Given the description of an element on the screen output the (x, y) to click on. 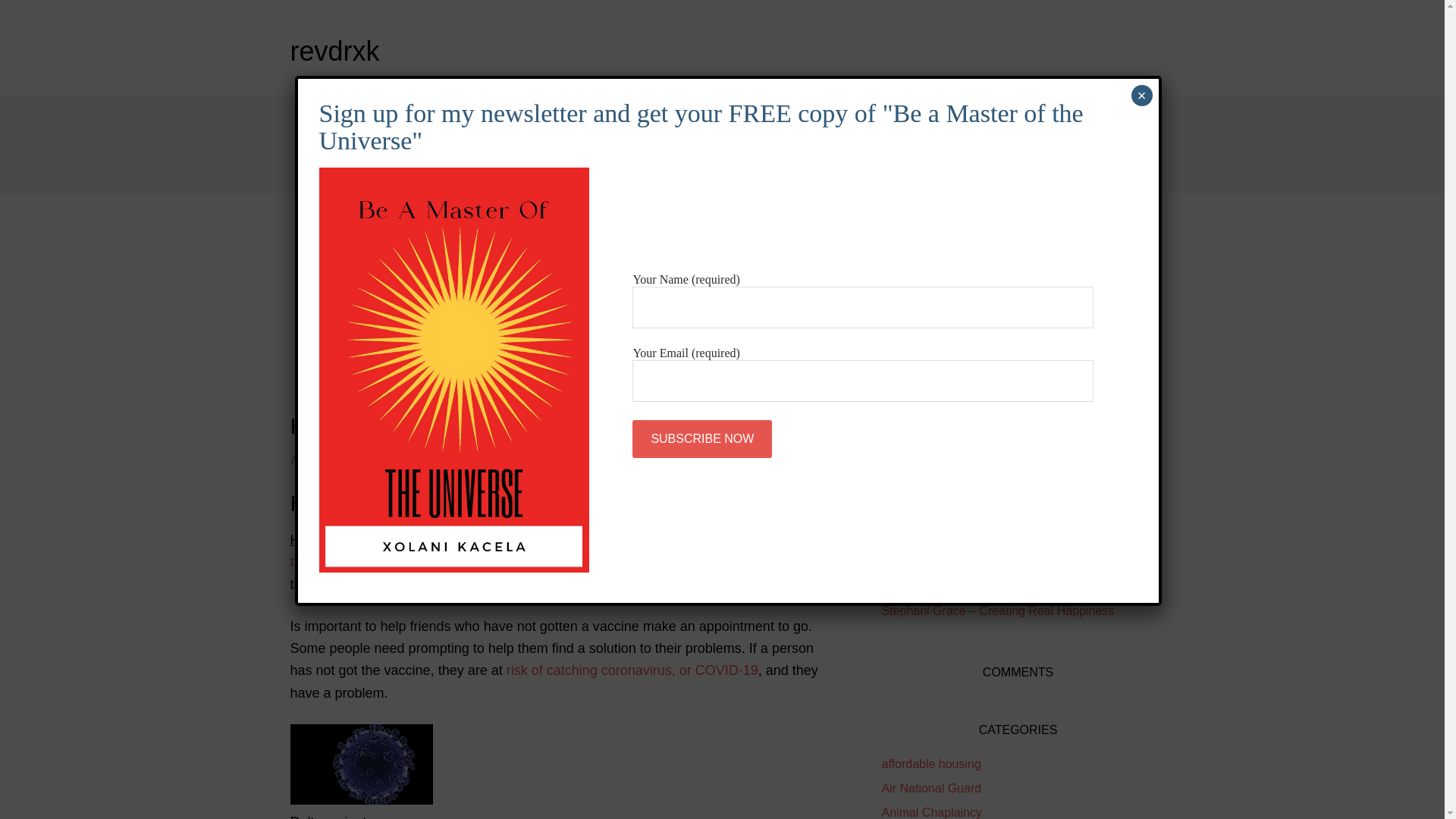
CONTACT (410, 168)
Leave a Comment (472, 461)
xk (403, 461)
COURSES (427, 119)
affordable housing (929, 763)
How to Convince Your Friend to Get the Vaccine (532, 425)
risk of catching coronavirus, or COVID-19 (632, 670)
FAQ (321, 168)
New Book Ready for Preorder Now! (977, 562)
LINKS (719, 119)
friends that have not gotten the coronavirus vaccine (561, 550)
revdrxk (333, 51)
HOME (328, 119)
Take On Faith Sunsetted in May 2022 (982, 585)
